Given the description of an element on the screen output the (x, y) to click on. 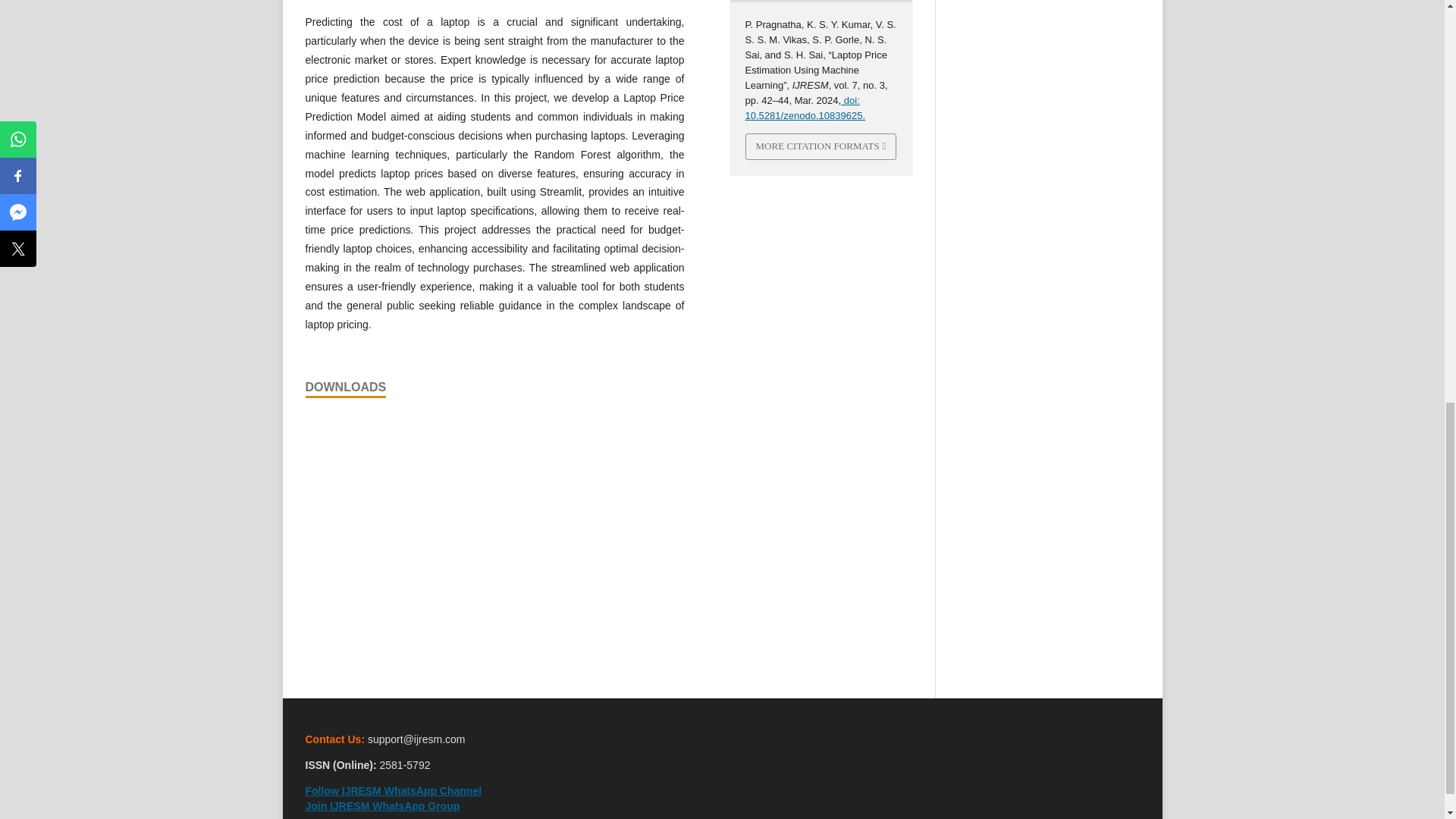
MORE CITATION FORMATS (820, 146)
